Given the description of an element on the screen output the (x, y) to click on. 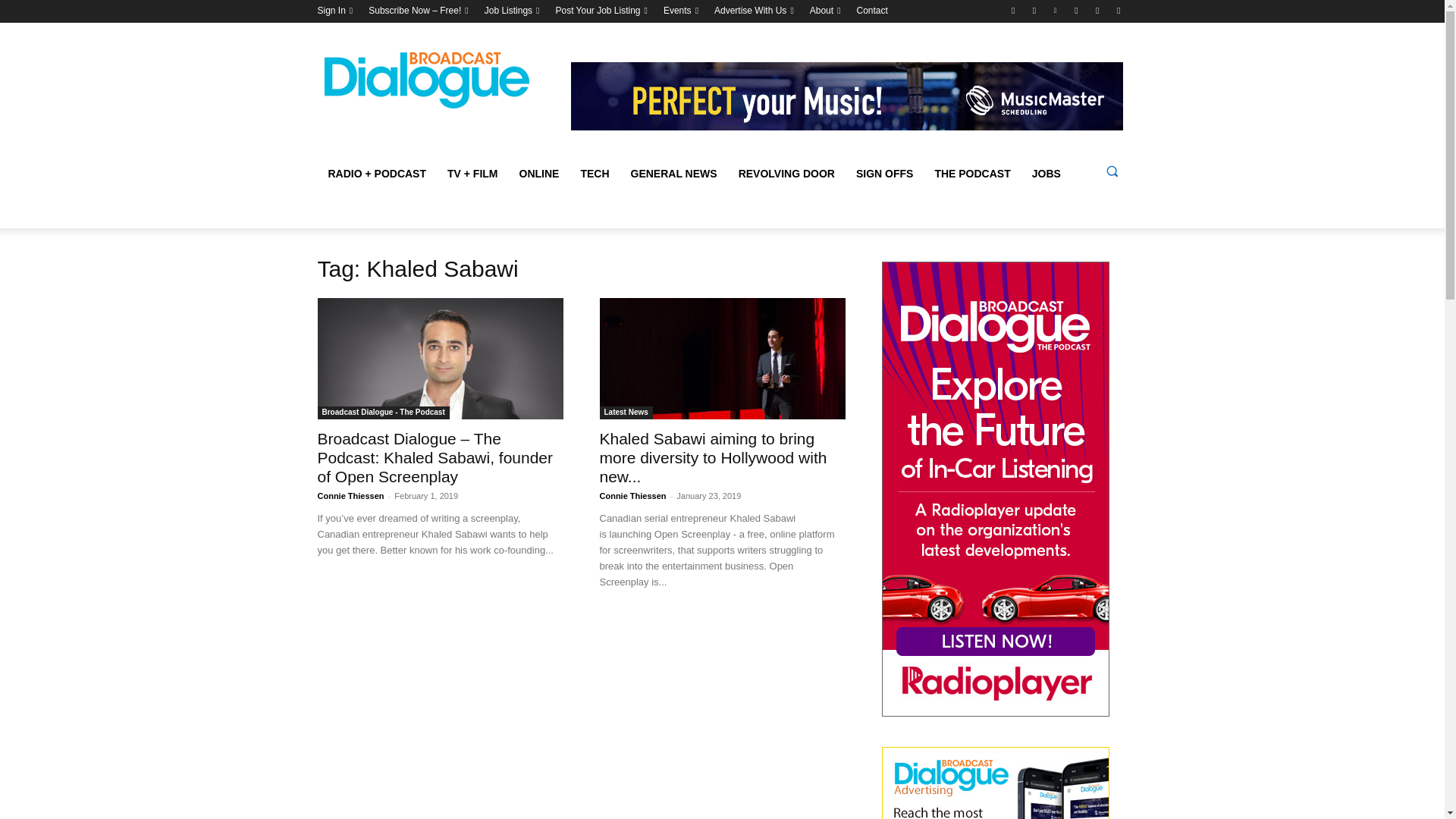
Linkedin (1055, 9)
REVOLVING DOOR (786, 173)
Mail-1 (1117, 9)
Spotify (1075, 9)
Twitter (1013, 9)
Contact (872, 10)
Job Listings (508, 10)
JOBS (1046, 173)
ONLINE (539, 173)
Events (677, 10)
About (820, 10)
TECH (594, 173)
Post Your Job Listing (597, 10)
Sign In (331, 10)
SIGN OFFS (884, 173)
